Given the description of an element on the screen output the (x, y) to click on. 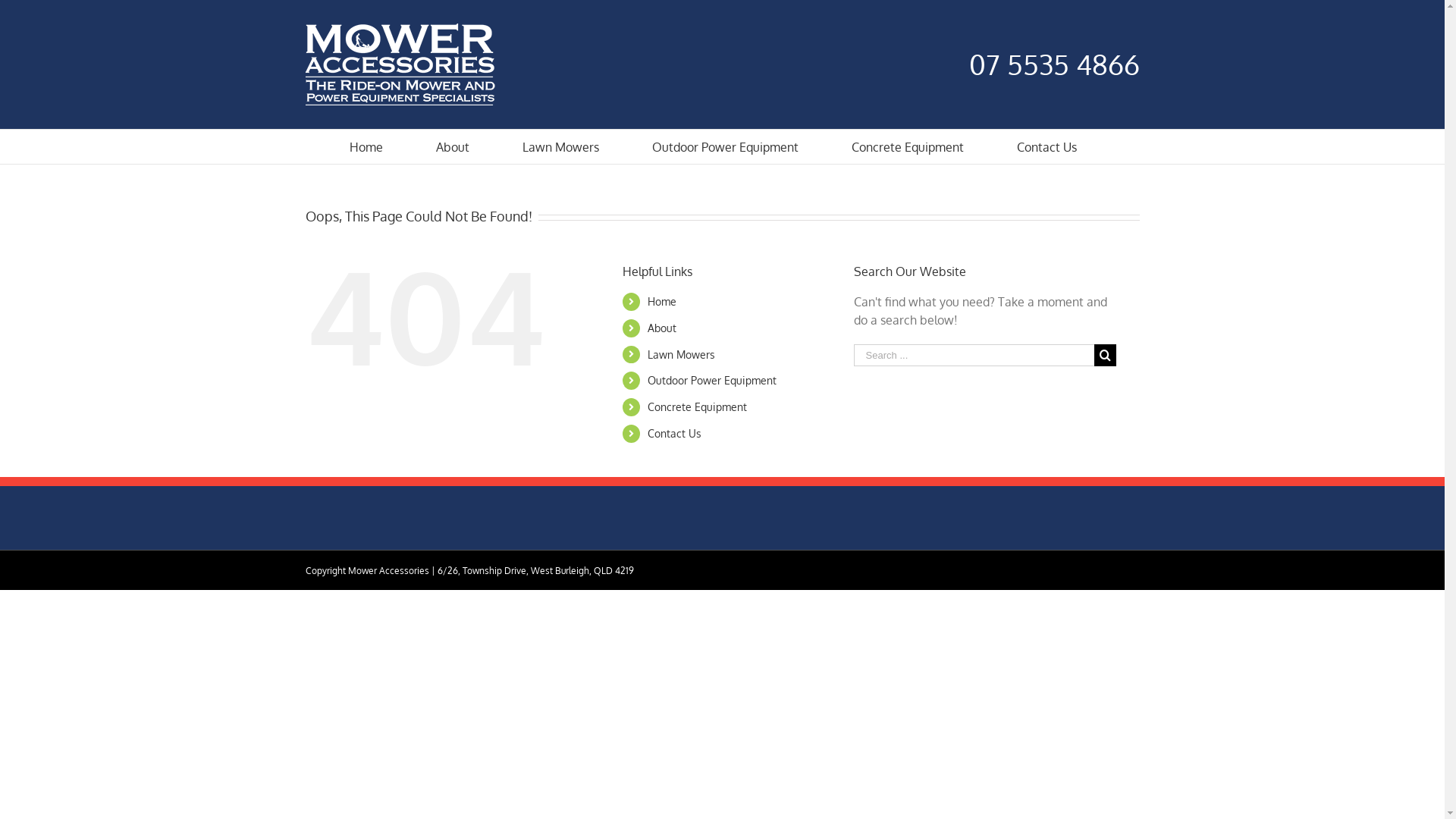
Contact Us Element type: text (674, 432)
Outdoor Power Equipment Element type: text (711, 379)
About Element type: text (452, 146)
Home Element type: text (365, 146)
Lawn Mowers Element type: text (560, 146)
Outdoor Power Equipment Element type: text (724, 146)
Concrete Equipment Element type: text (907, 146)
Concrete Equipment Element type: text (696, 406)
Lawn Mowers Element type: text (681, 354)
About Element type: text (661, 327)
Home Element type: text (661, 300)
Contact Us Element type: text (1046, 146)
